Given the description of an element on the screen output the (x, y) to click on. 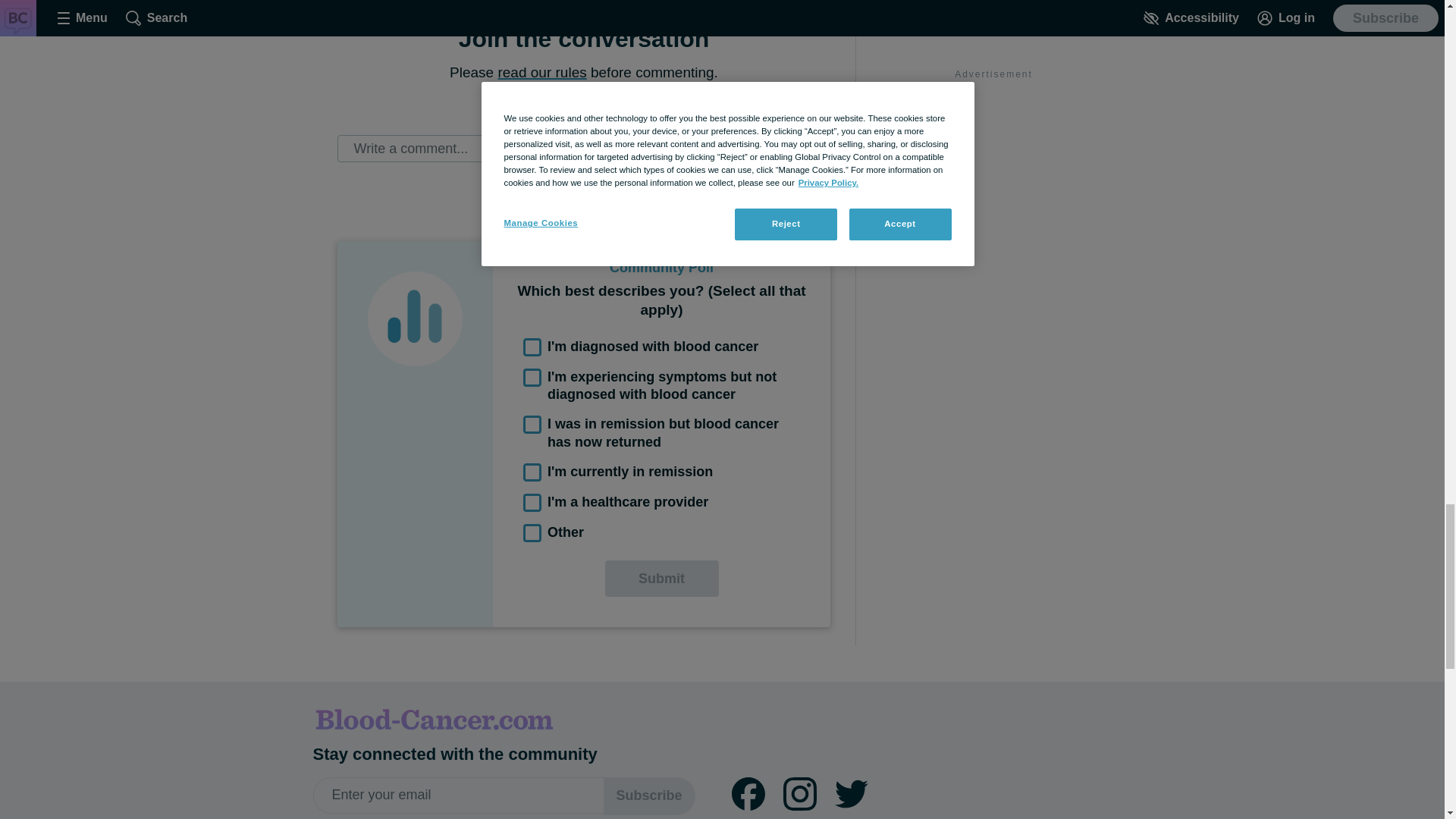
caret icon (639, 104)
57764 (531, 377)
57768 (531, 533)
3rd party ad content (992, 38)
57767 (531, 502)
57763 (531, 347)
57765 (531, 424)
57766 (531, 472)
